Given the description of an element on the screen output the (x, y) to click on. 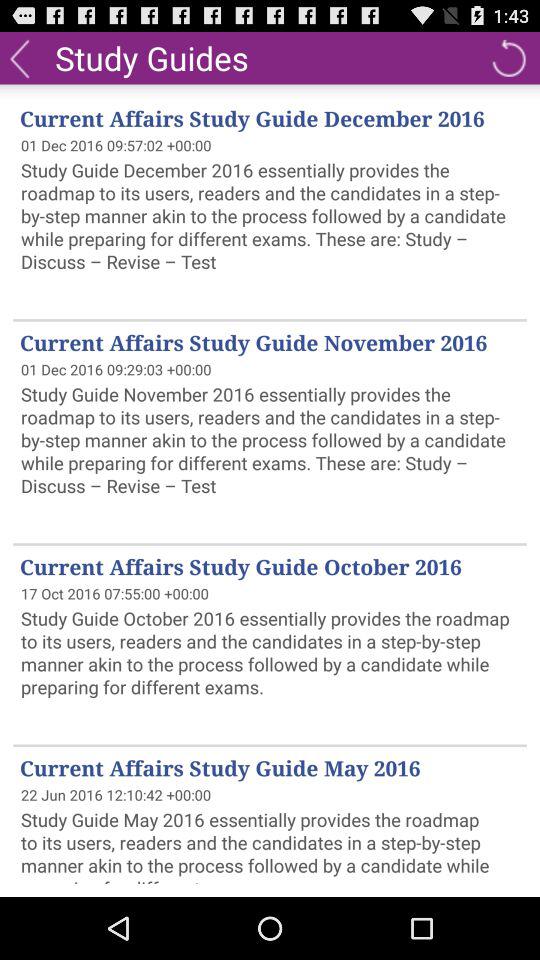
refresh page (508, 57)
